Given the description of an element on the screen output the (x, y) to click on. 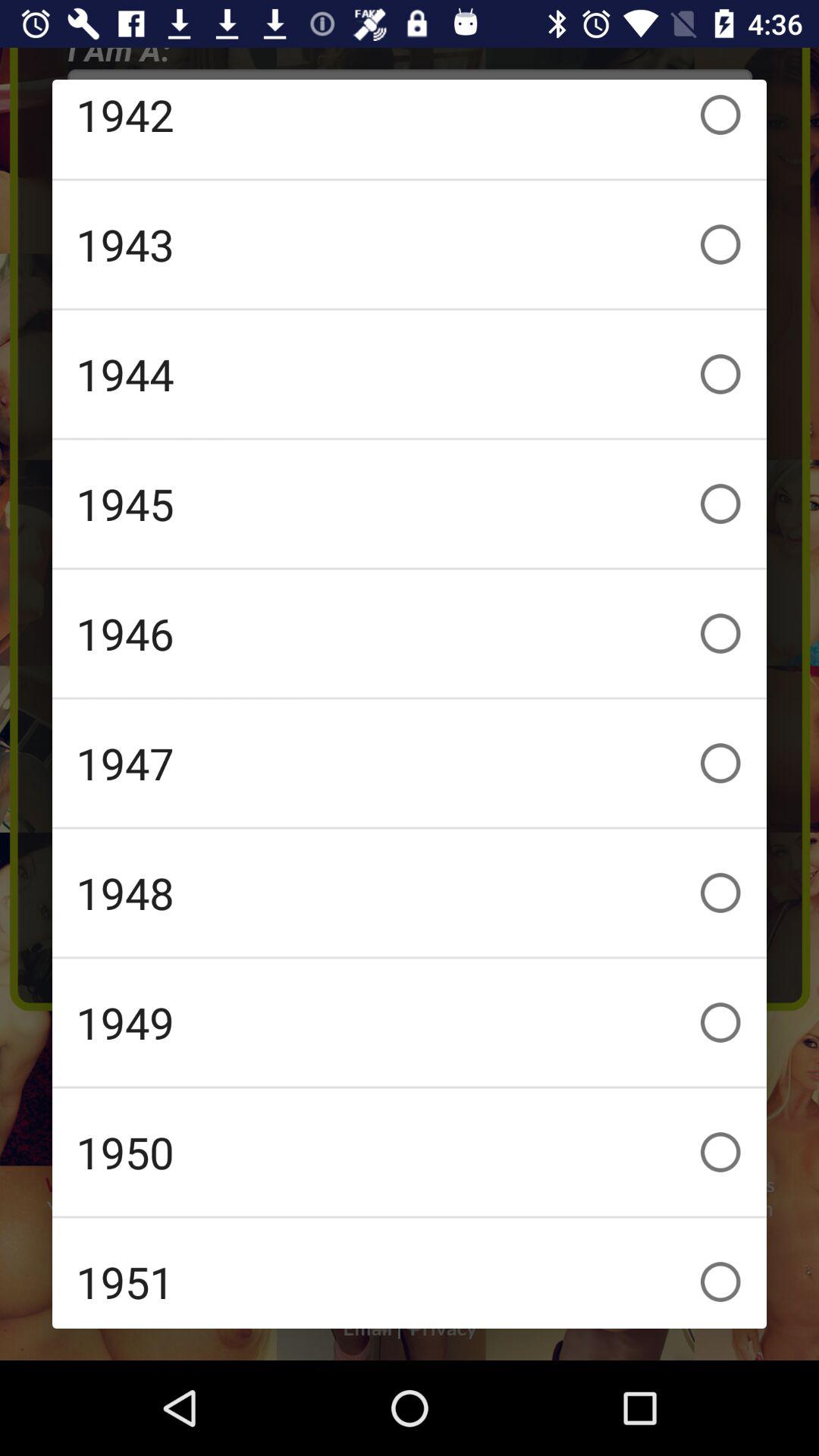
open icon above 1943 (409, 128)
